Given the description of an element on the screen output the (x, y) to click on. 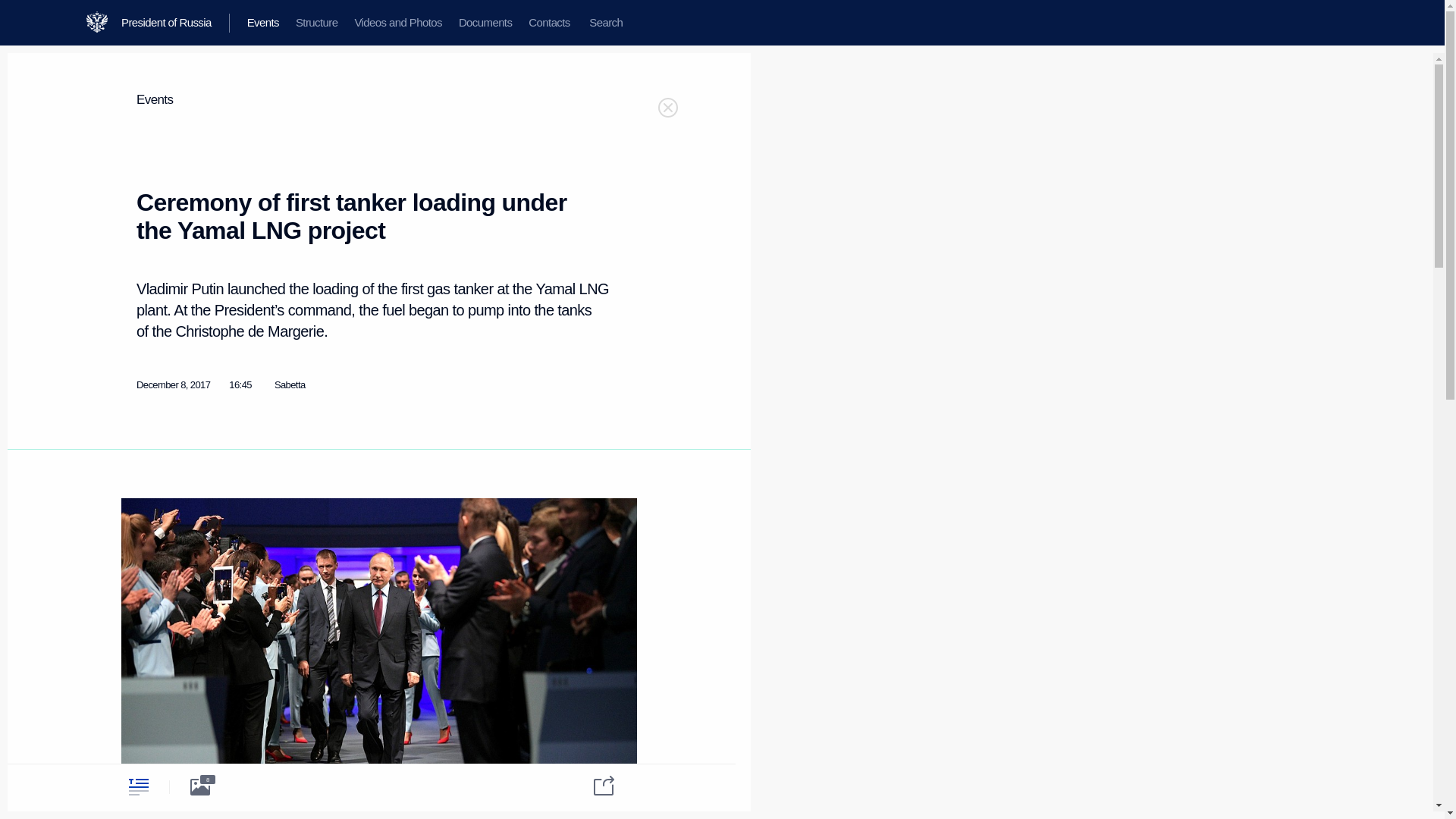
Share (593, 784)
Photo (200, 786)
Contacts (548, 22)
Structure (316, 22)
Documents (484, 22)
Global website search (605, 22)
Text (137, 786)
Videos and Photos (397, 22)
Search (605, 22)
Events (262, 22)
President of Russia (175, 22)
Events (154, 99)
